Given the description of an element on the screen output the (x, y) to click on. 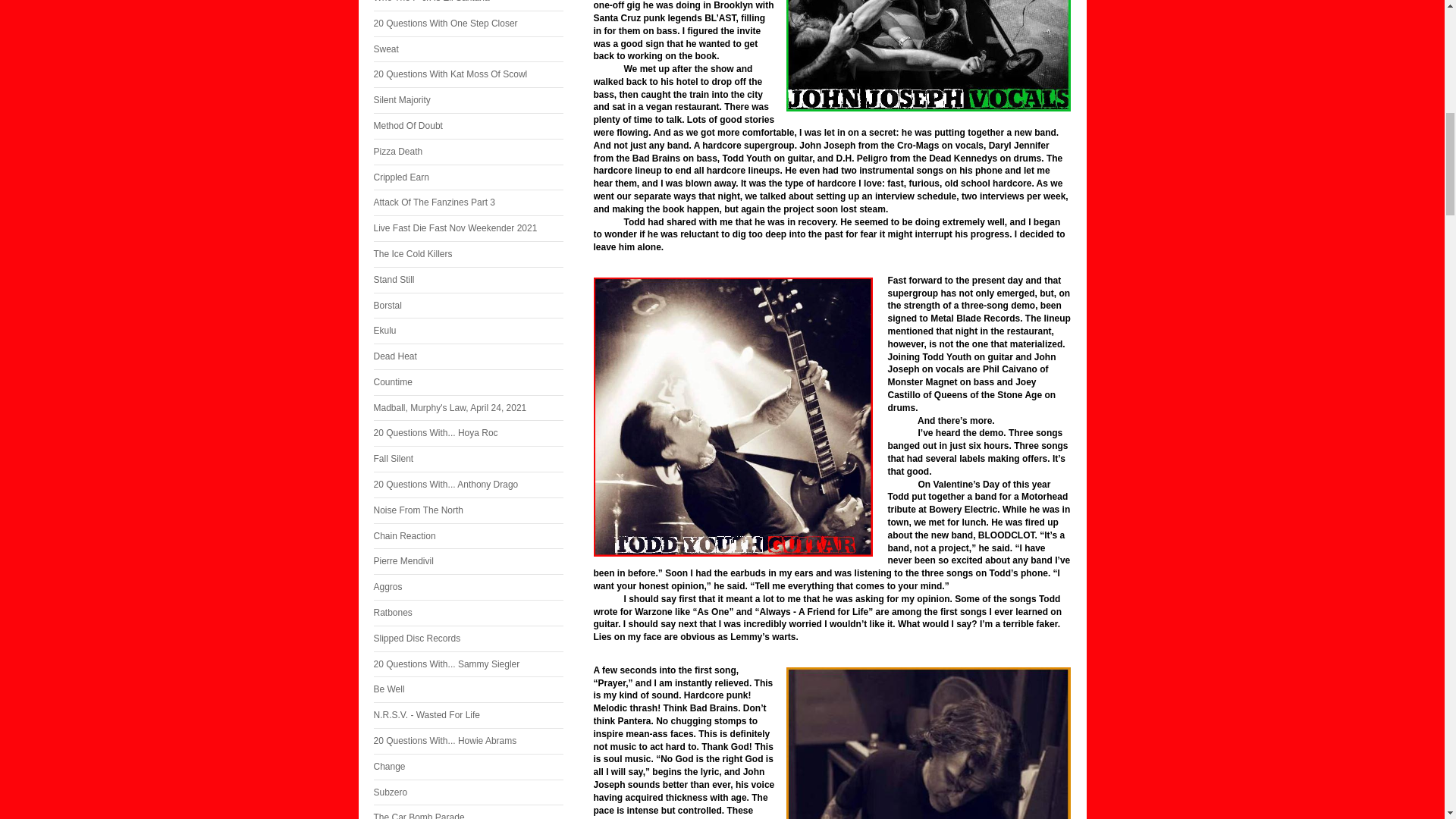
20 Questions With Kat Moss Of Scowl (467, 74)
20 Questions With One Step Closer (467, 23)
Method Of Doubt (467, 126)
Sweat (467, 49)
Silent Majority (467, 99)
